Given the description of an element on the screen output the (x, y) to click on. 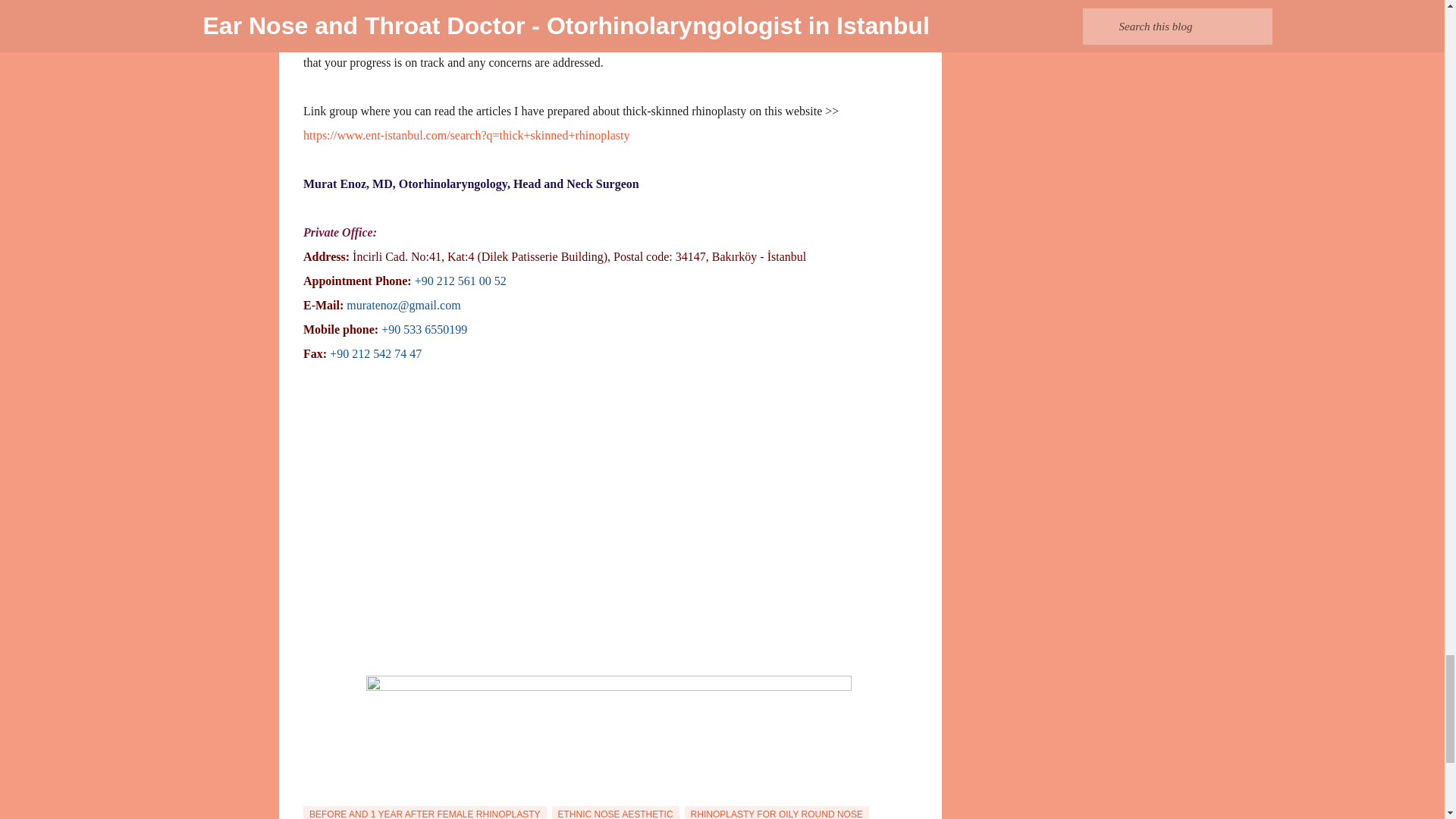
BEFORE AND 1 YEAR AFTER FEMALE RHINOPLASTY (424, 812)
ETHNIC NOSE AESTHETIC (615, 812)
RHINOPLASTY FOR OILY ROUND NOSE (776, 812)
